Given the description of an element on the screen output the (x, y) to click on. 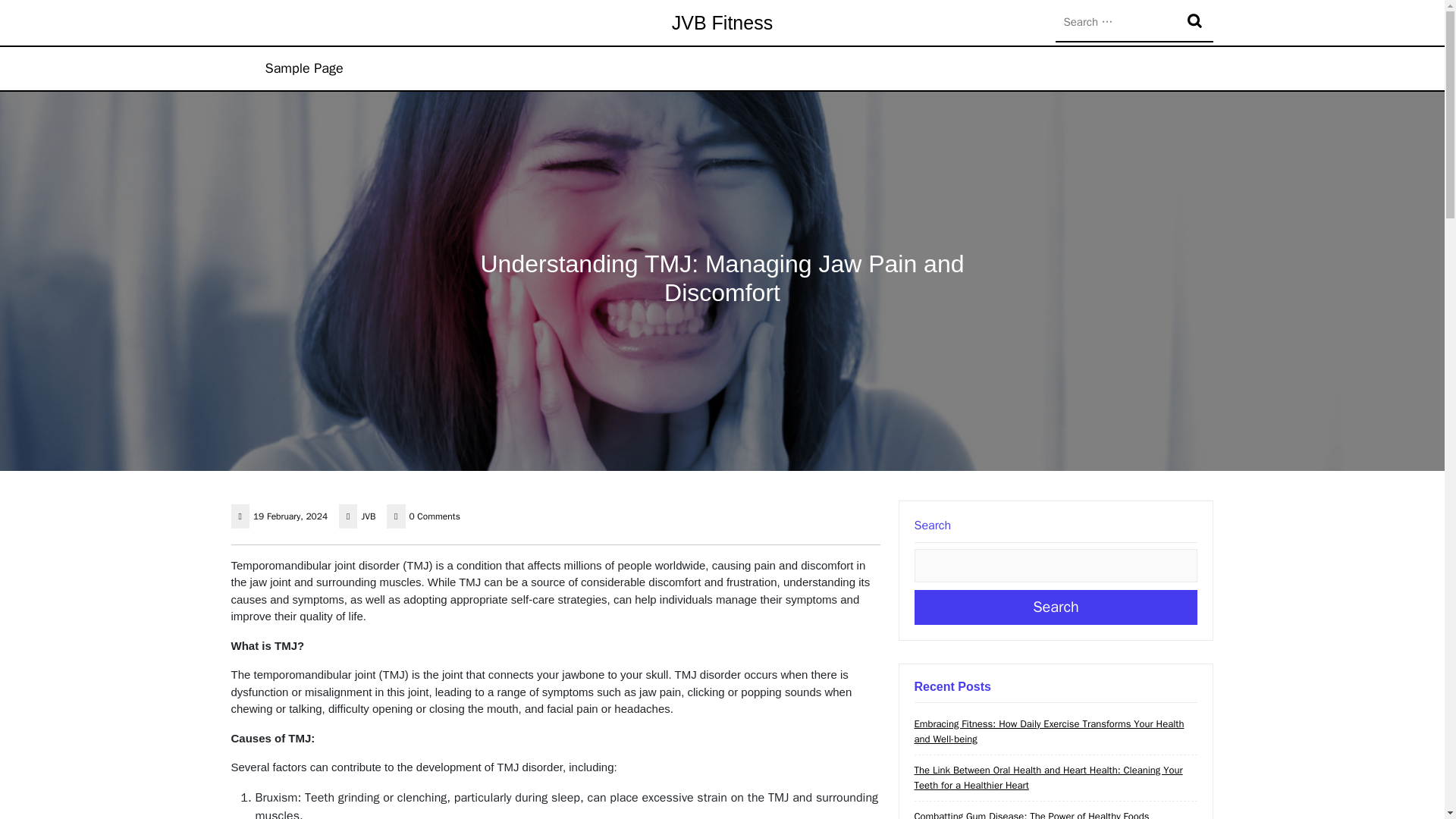
Combatting Gum Disease: The Power of Healthy Foods (1032, 814)
Search (1056, 606)
JVB Fitness (722, 22)
Sample Page (303, 68)
